Given the description of an element on the screen output the (x, y) to click on. 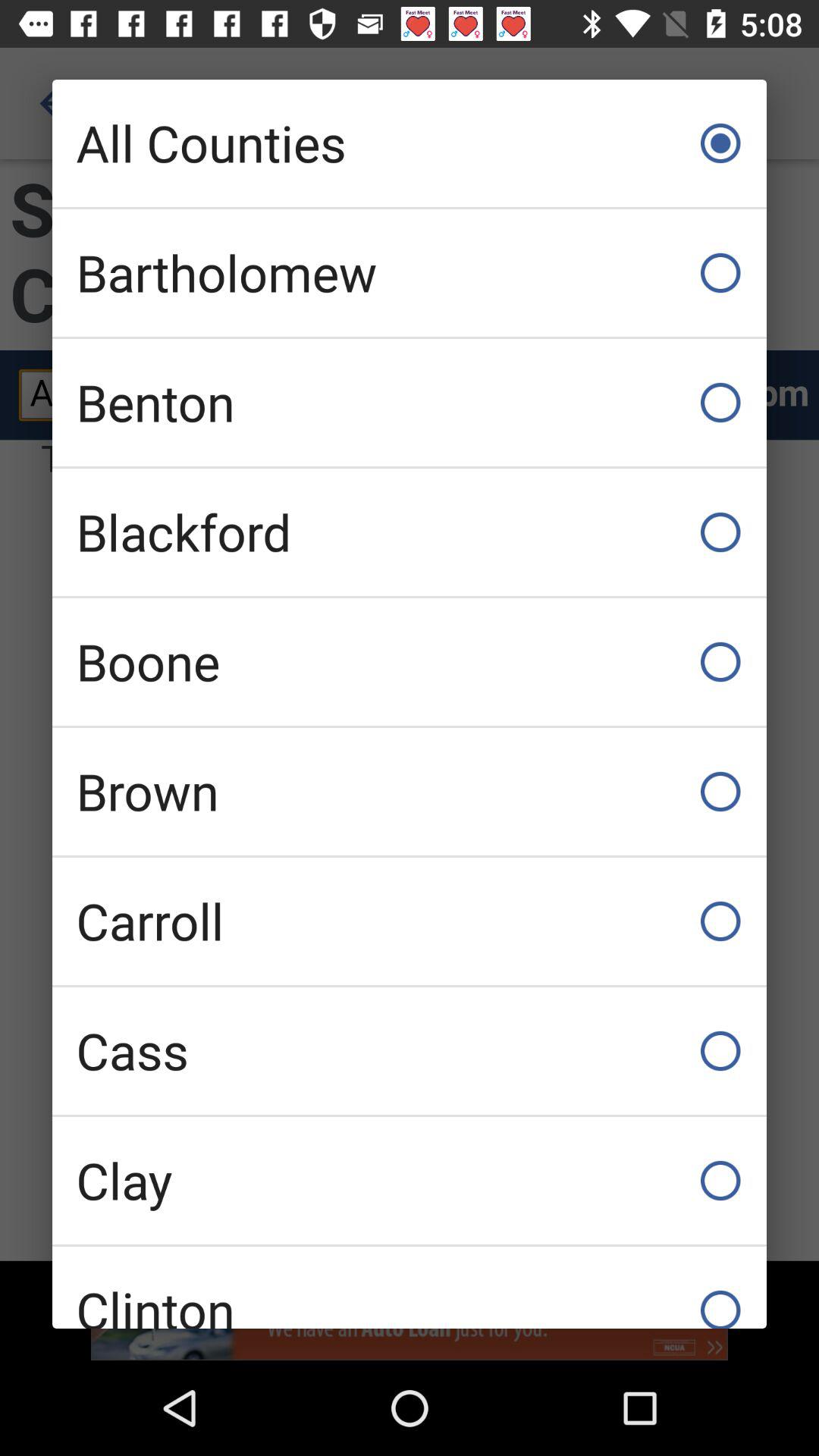
press the cass icon (409, 1050)
